Given the description of an element on the screen output the (x, y) to click on. 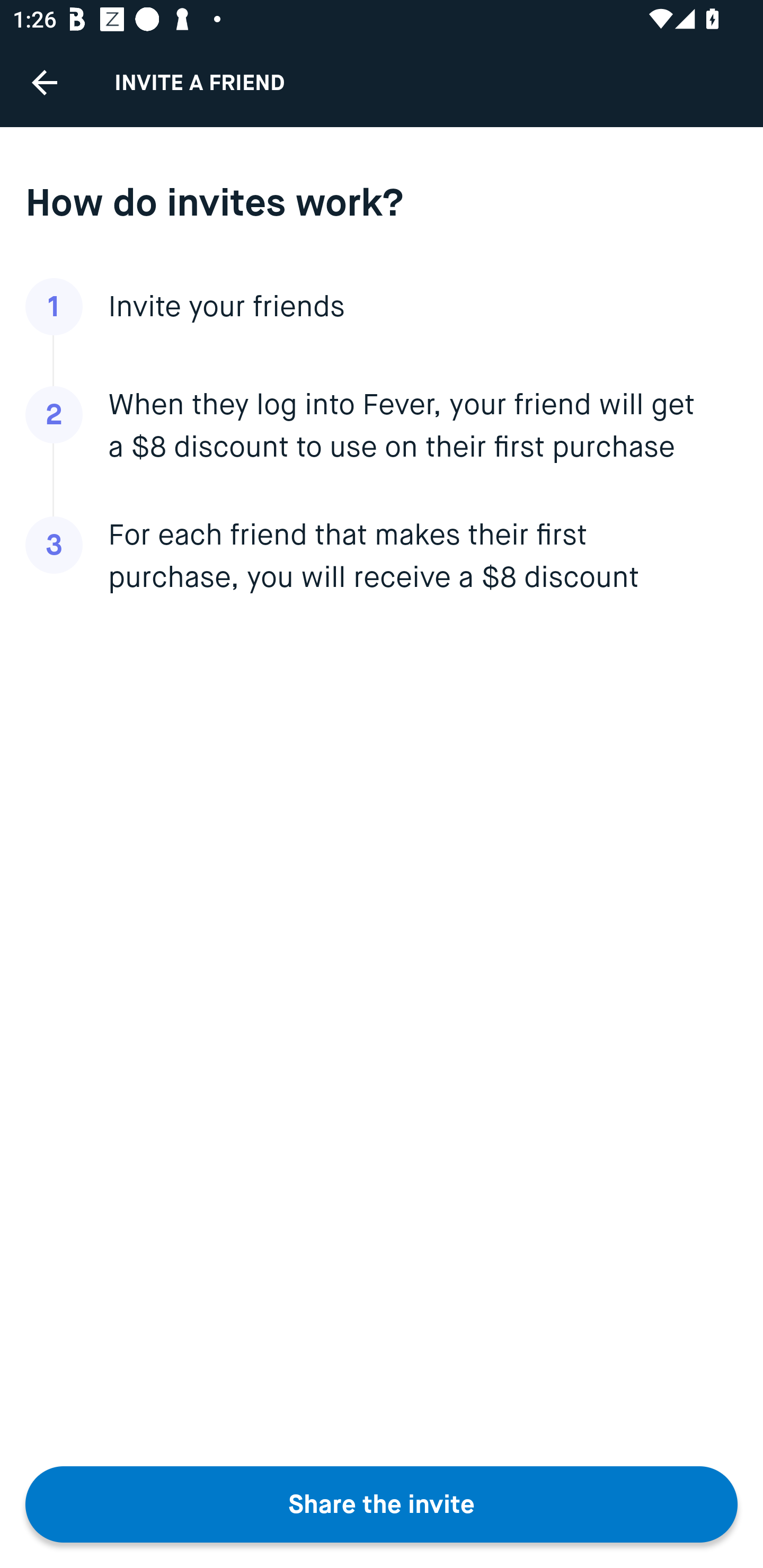
Navigate up (44, 82)
Share the invite (381, 1504)
